Given the description of an element on the screen output the (x, y) to click on. 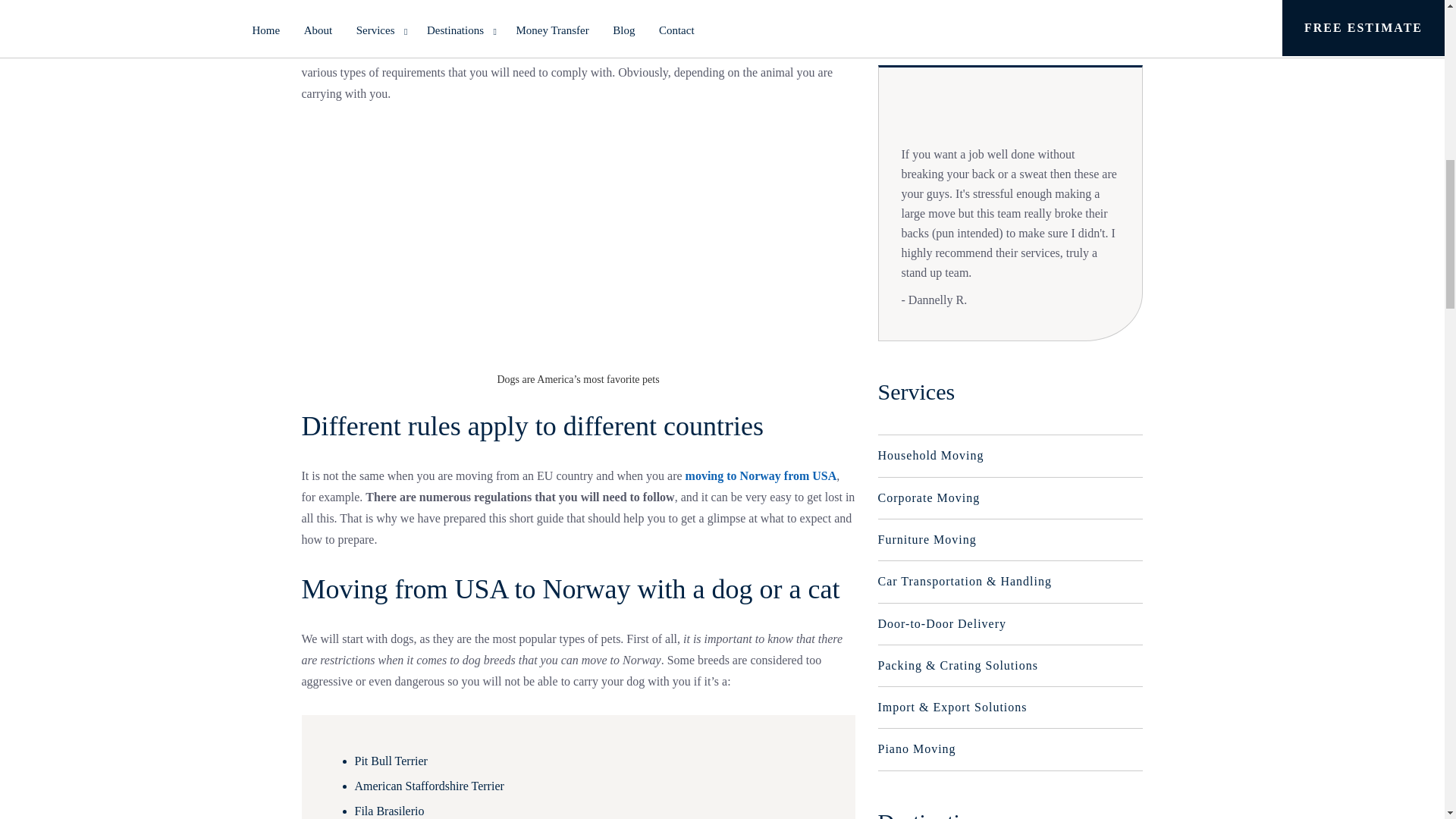
moving to Norway from USA (761, 475)
